Given the description of an element on the screen output the (x, y) to click on. 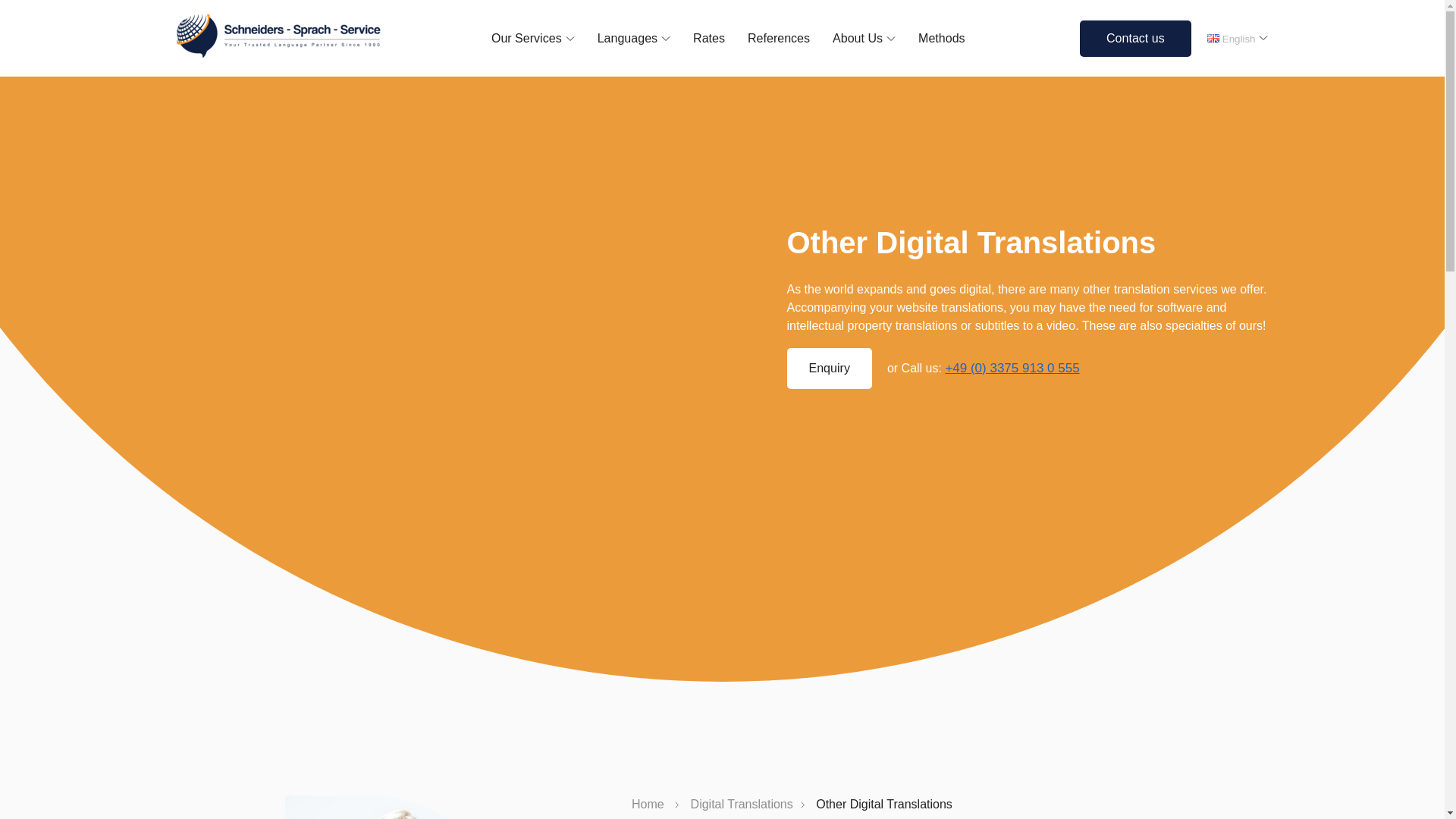
Our Services (533, 38)
Languages (632, 38)
